Given the description of an element on the screen output the (x, y) to click on. 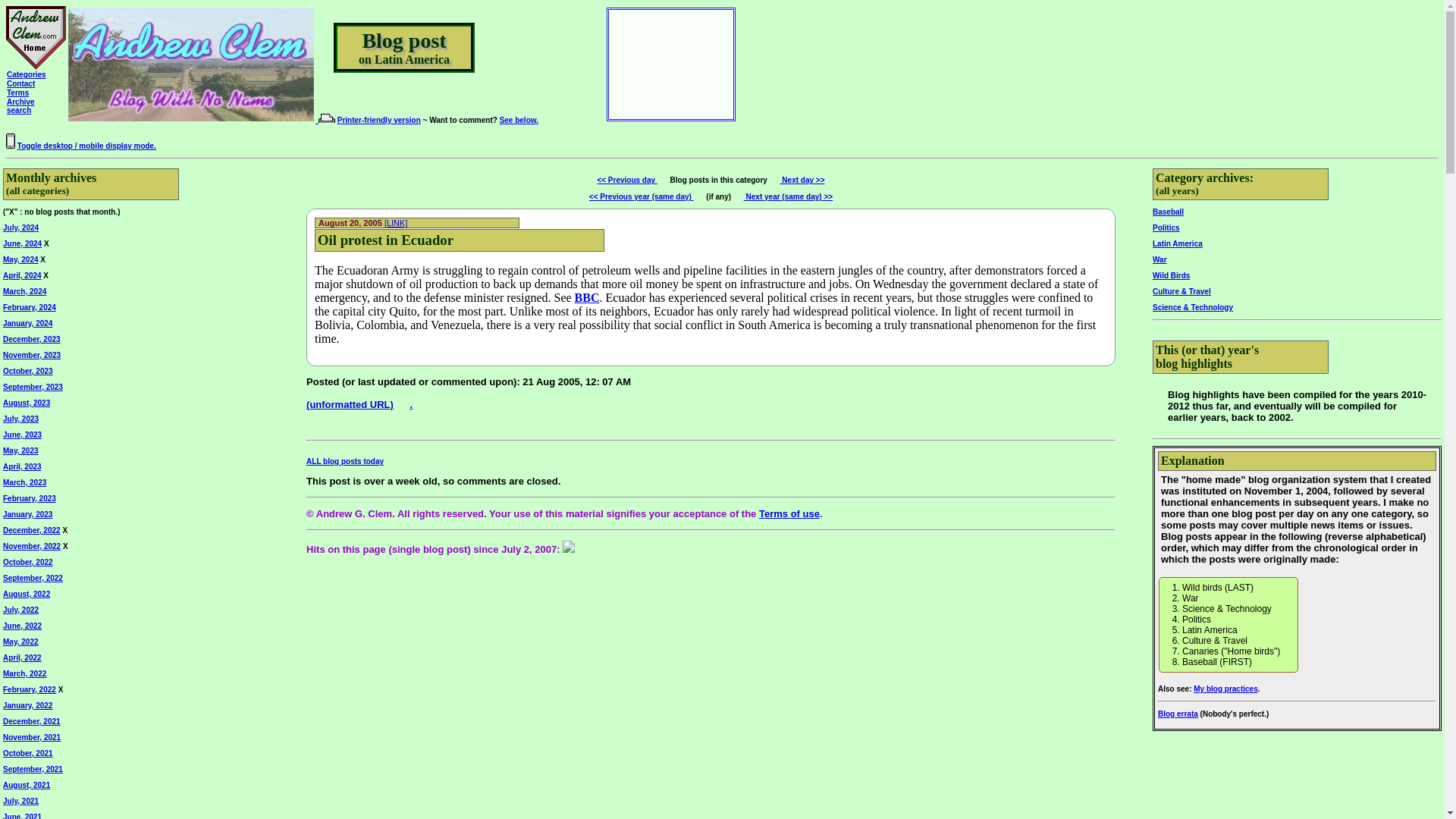
Contact (20, 105)
Advertisement (20, 83)
Terms (657, 58)
See below. (18, 92)
Printer-friendly version (518, 120)
Categories (378, 120)
